Given the description of an element on the screen output the (x, y) to click on. 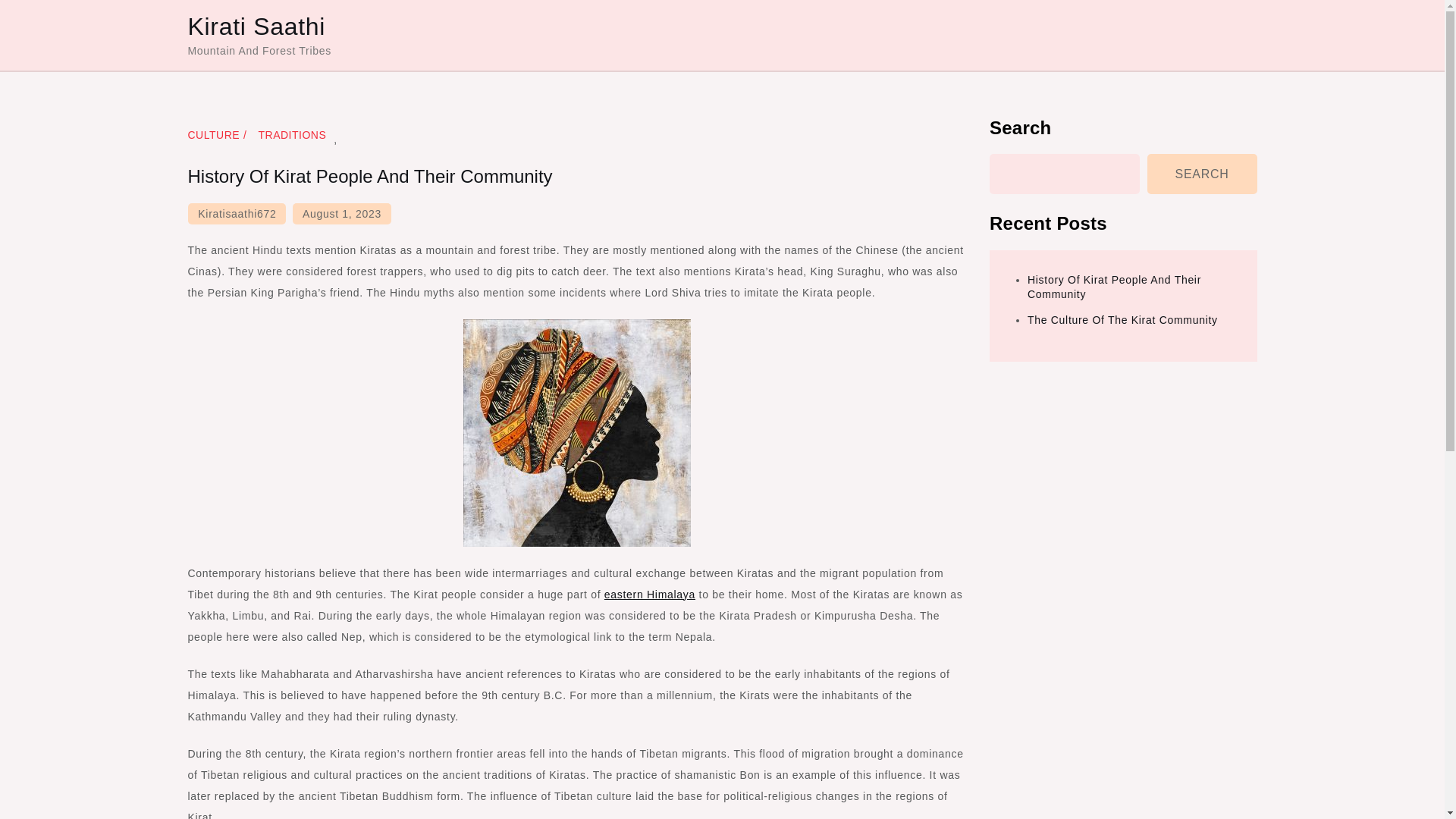
CULTURE (218, 134)
eastern Himalaya (649, 594)
August 1, 2023 (341, 213)
History Of Kirat People And Their Community (1114, 286)
Kiratisaathi672 (236, 213)
The Culture Of The Kirat Community (1122, 319)
TRADITIONS (291, 134)
SEARCH (1202, 173)
Kirati Saathi (256, 26)
